Given the description of an element on the screen output the (x, y) to click on. 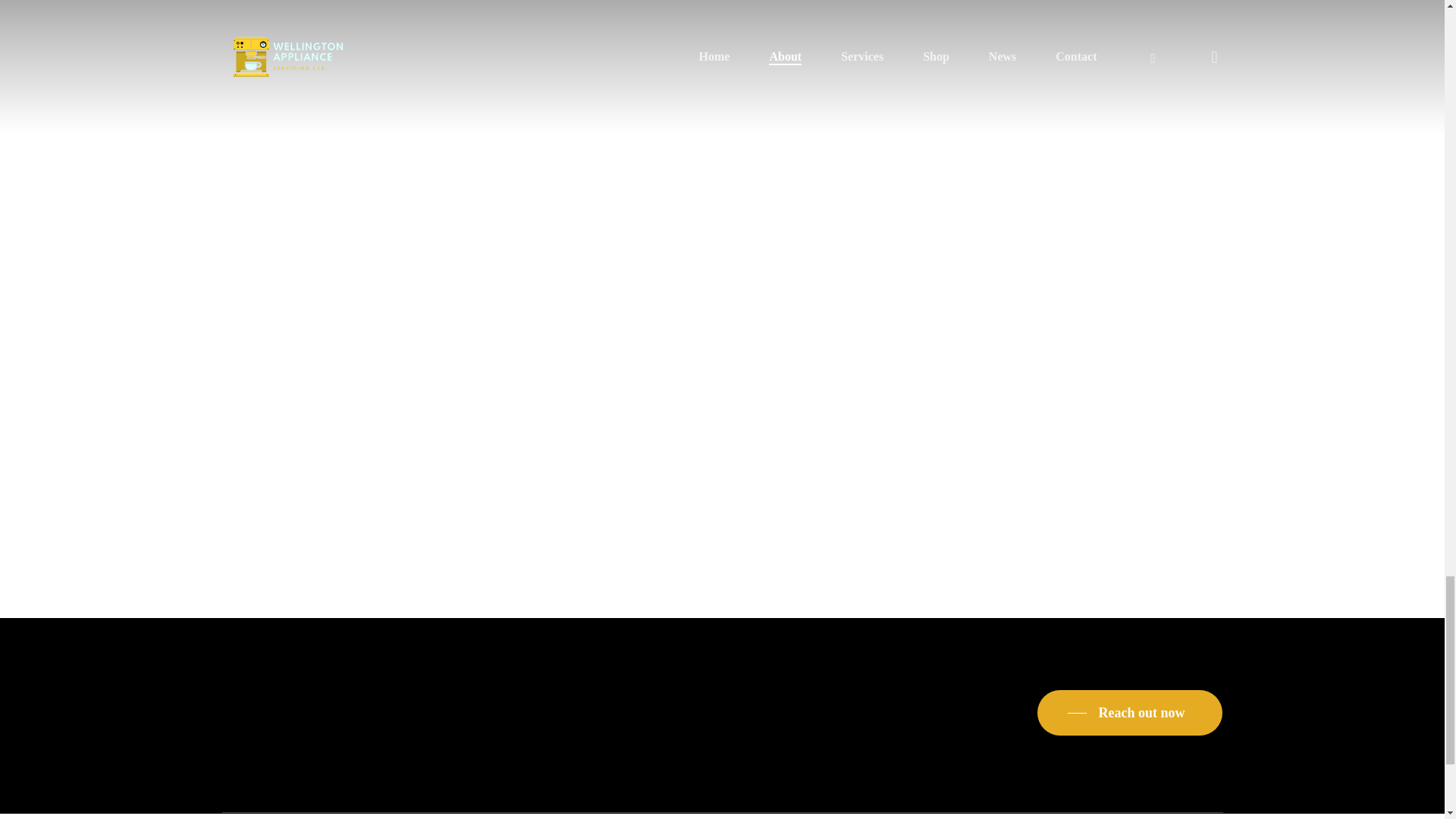
Reach out now (1129, 712)
